Given the description of an element on the screen output the (x, y) to click on. 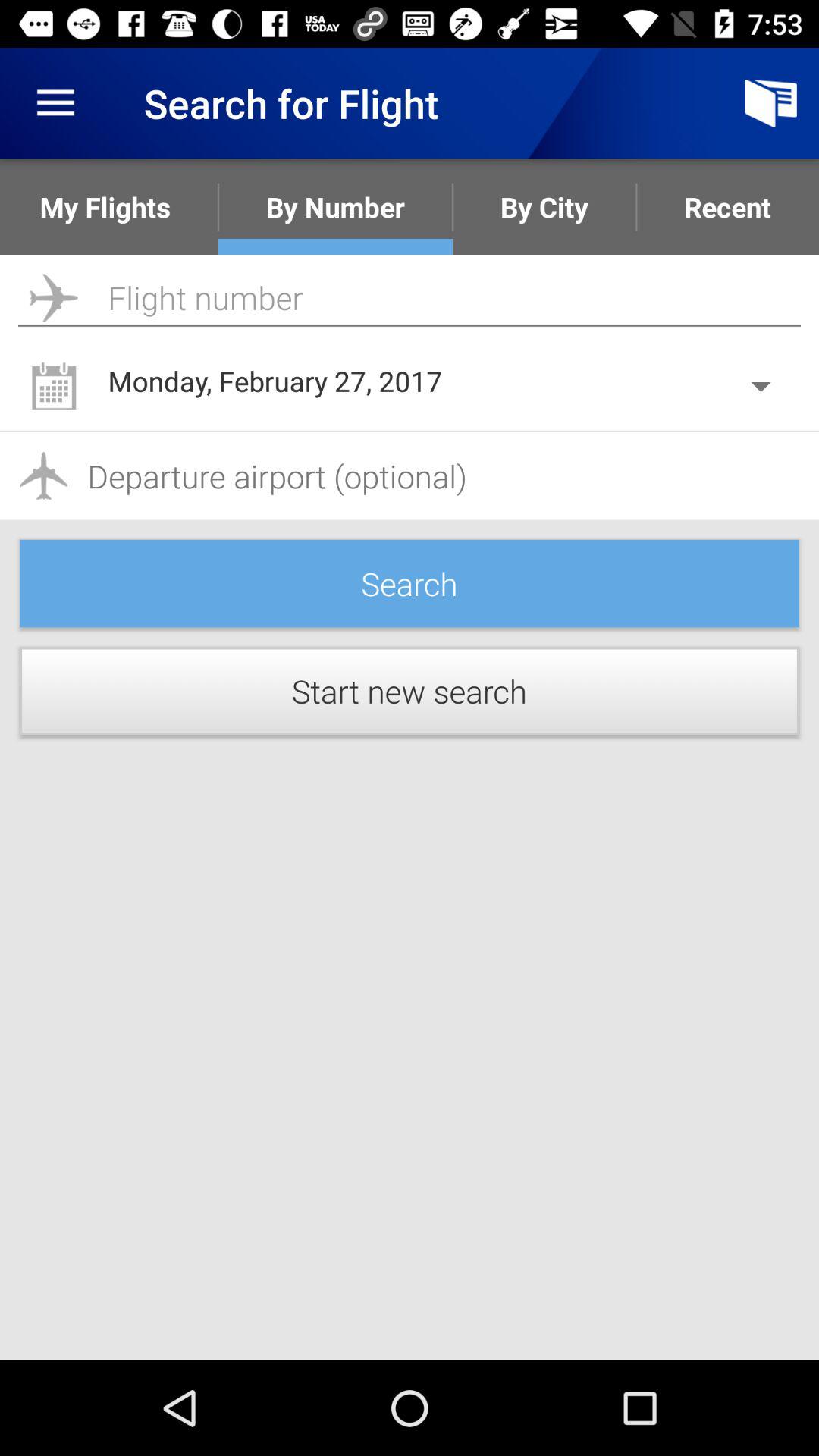
enter departure airport (409, 475)
